Given the description of an element on the screen output the (x, y) to click on. 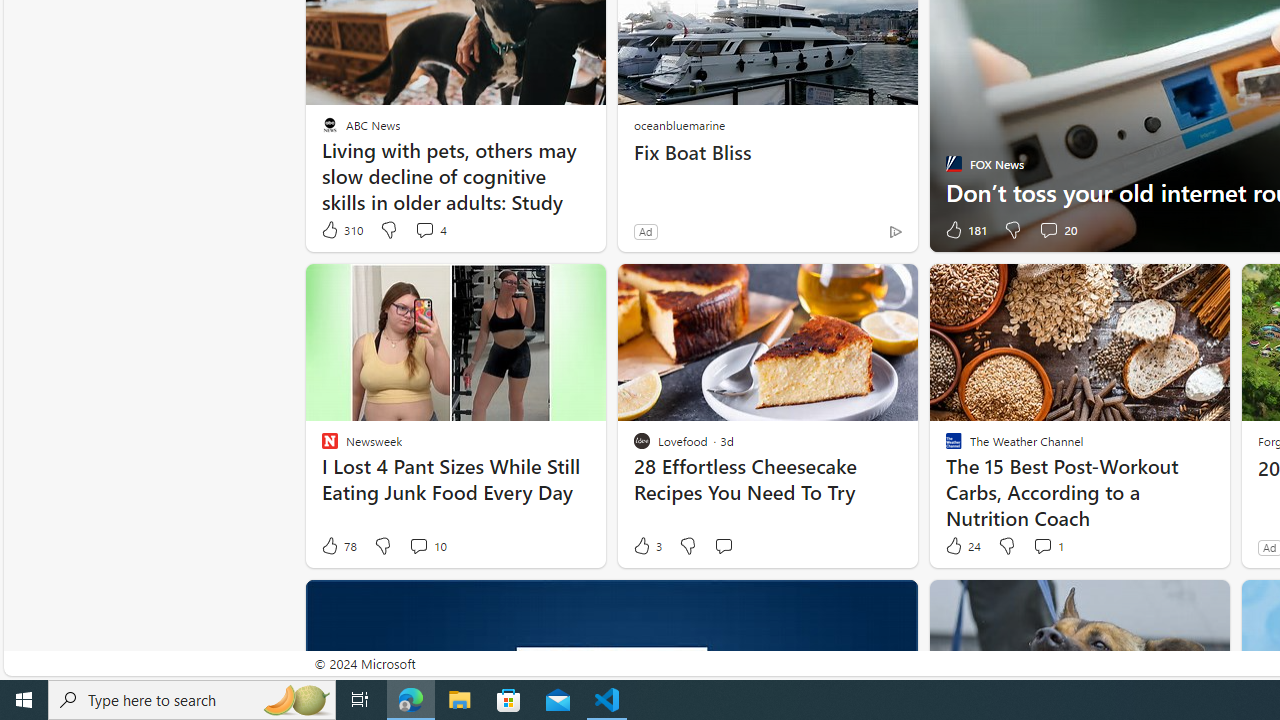
310 Like (341, 230)
181 Like (964, 230)
Fix Boat Bliss (767, 152)
oceanbluemarine (678, 124)
3 Like (646, 546)
